Given the description of an element on the screen output the (x, y) to click on. 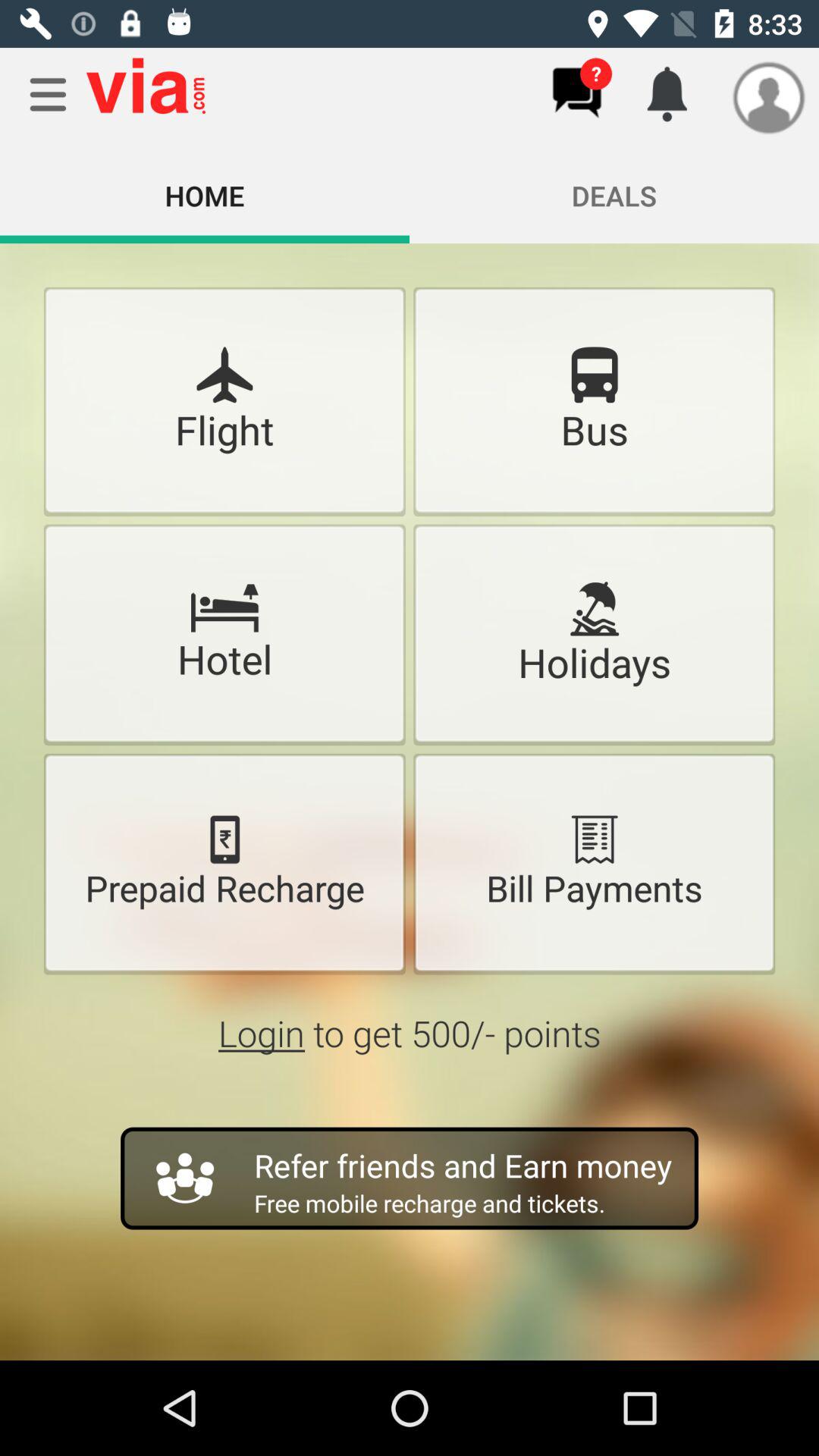
go to messages (576, 92)
